Given the description of an element on the screen output the (x, y) to click on. 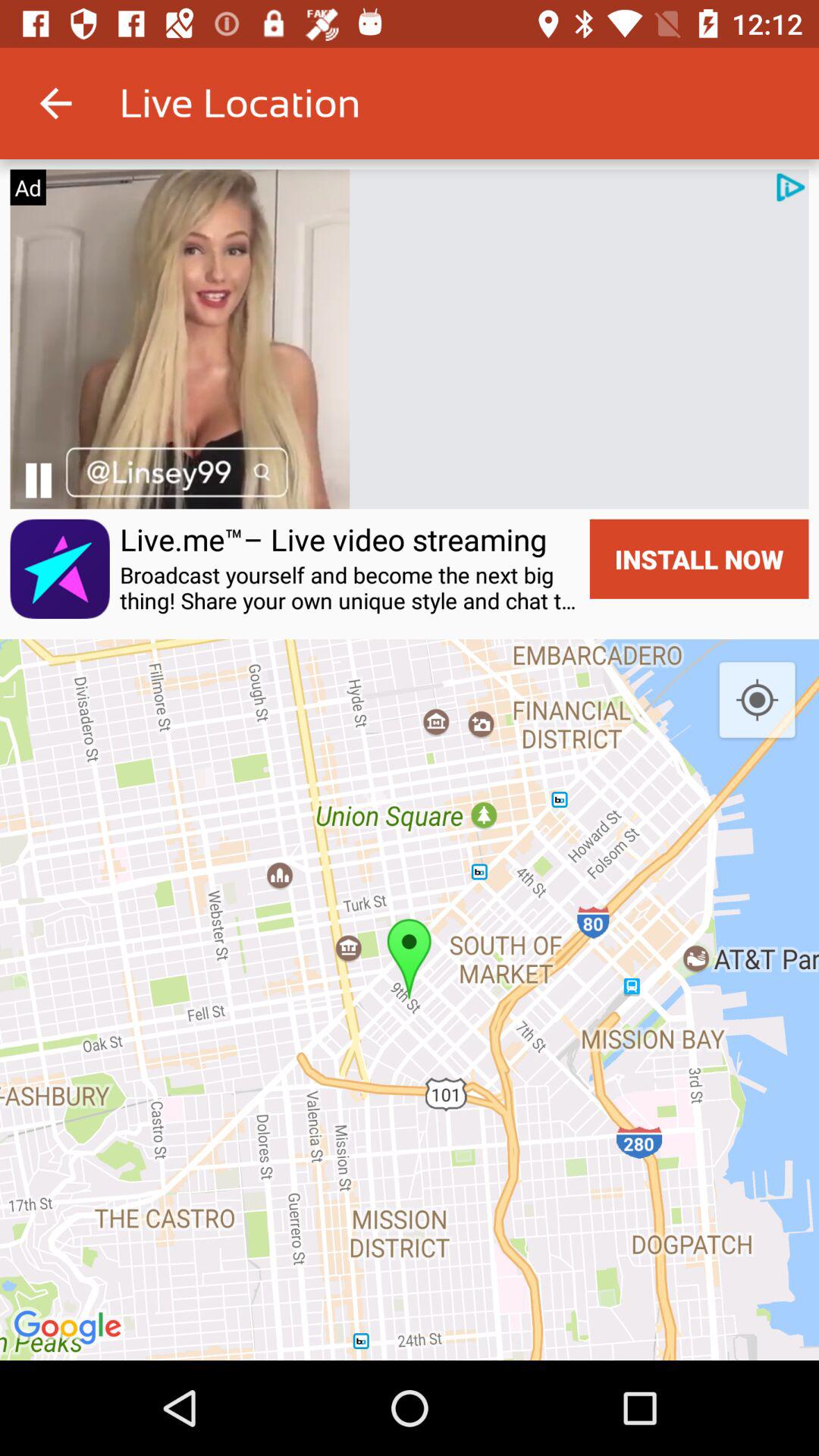
select item next to install now (333, 539)
